Given the description of an element on the screen output the (x, y) to click on. 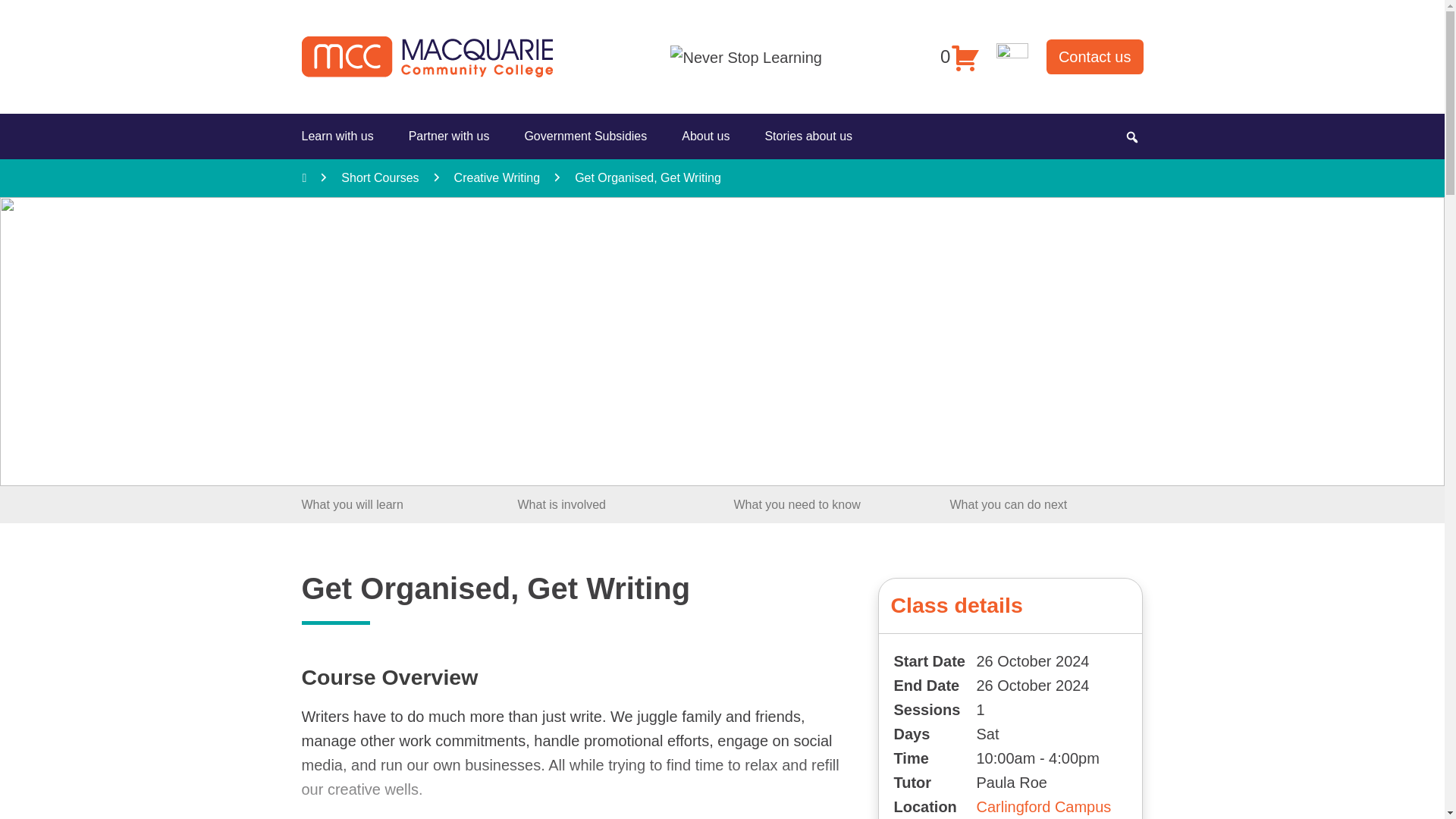
Learner Portal (1011, 54)
0 (959, 56)
Contact us (1094, 56)
Contact us (1094, 56)
Learn with us (339, 135)
Short Courses (379, 177)
Creative Writing (497, 177)
